Given the description of an element on the screen output the (x, y) to click on. 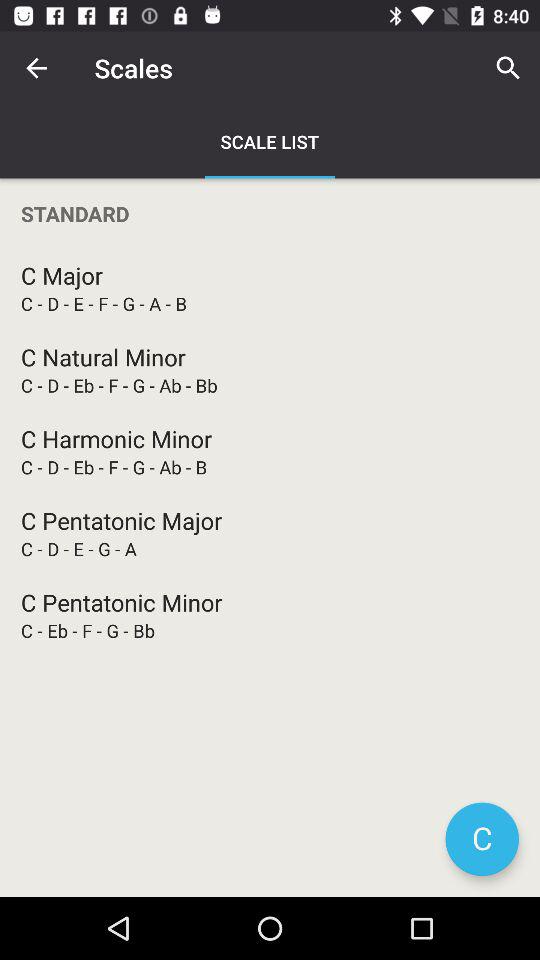
swipe until standard icon (270, 213)
